Given the description of an element on the screen output the (x, y) to click on. 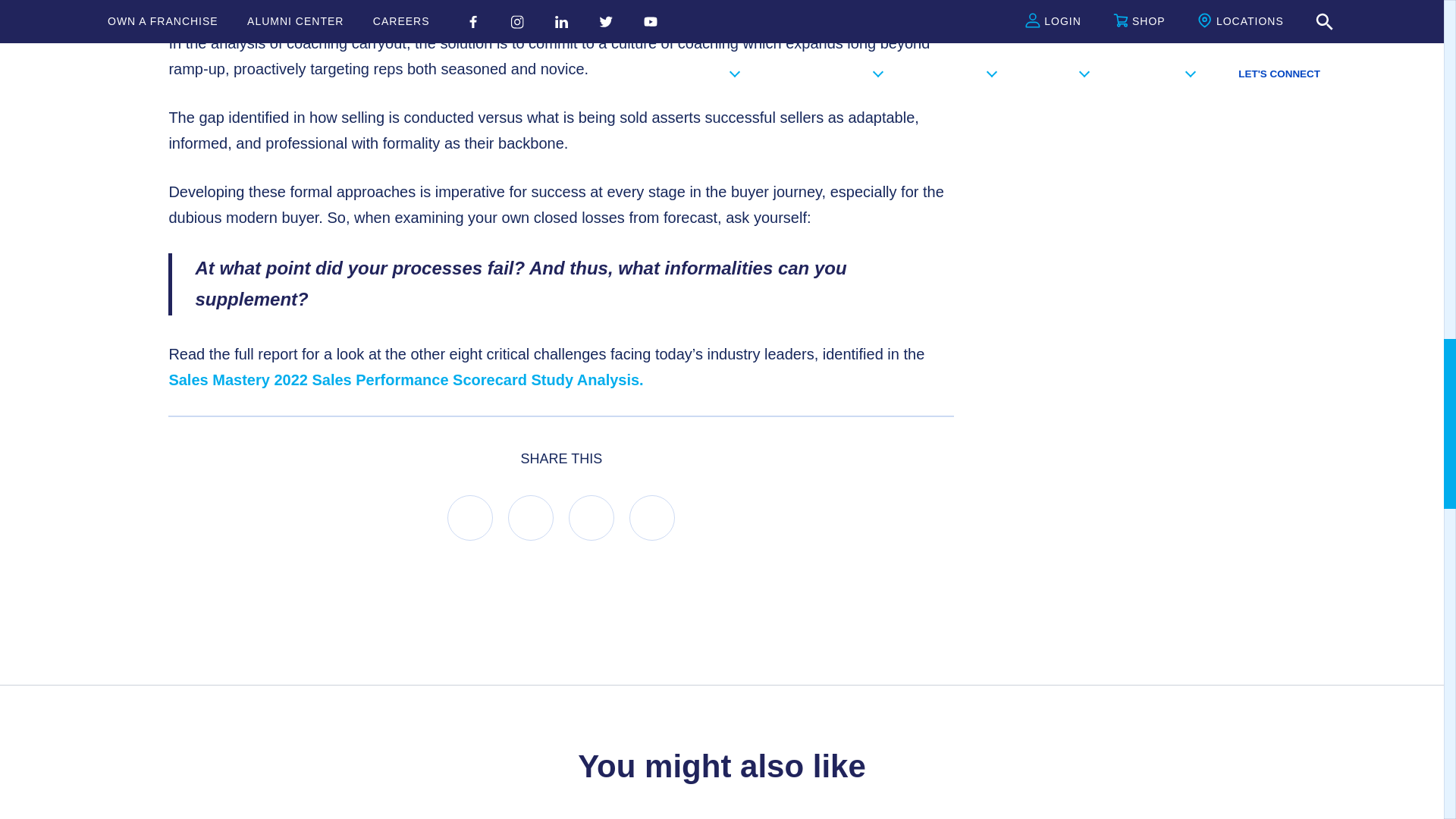
Email (651, 517)
Facebook (469, 517)
Twitter (591, 517)
LinkedIn (530, 517)
